Given the description of an element on the screen output the (x, y) to click on. 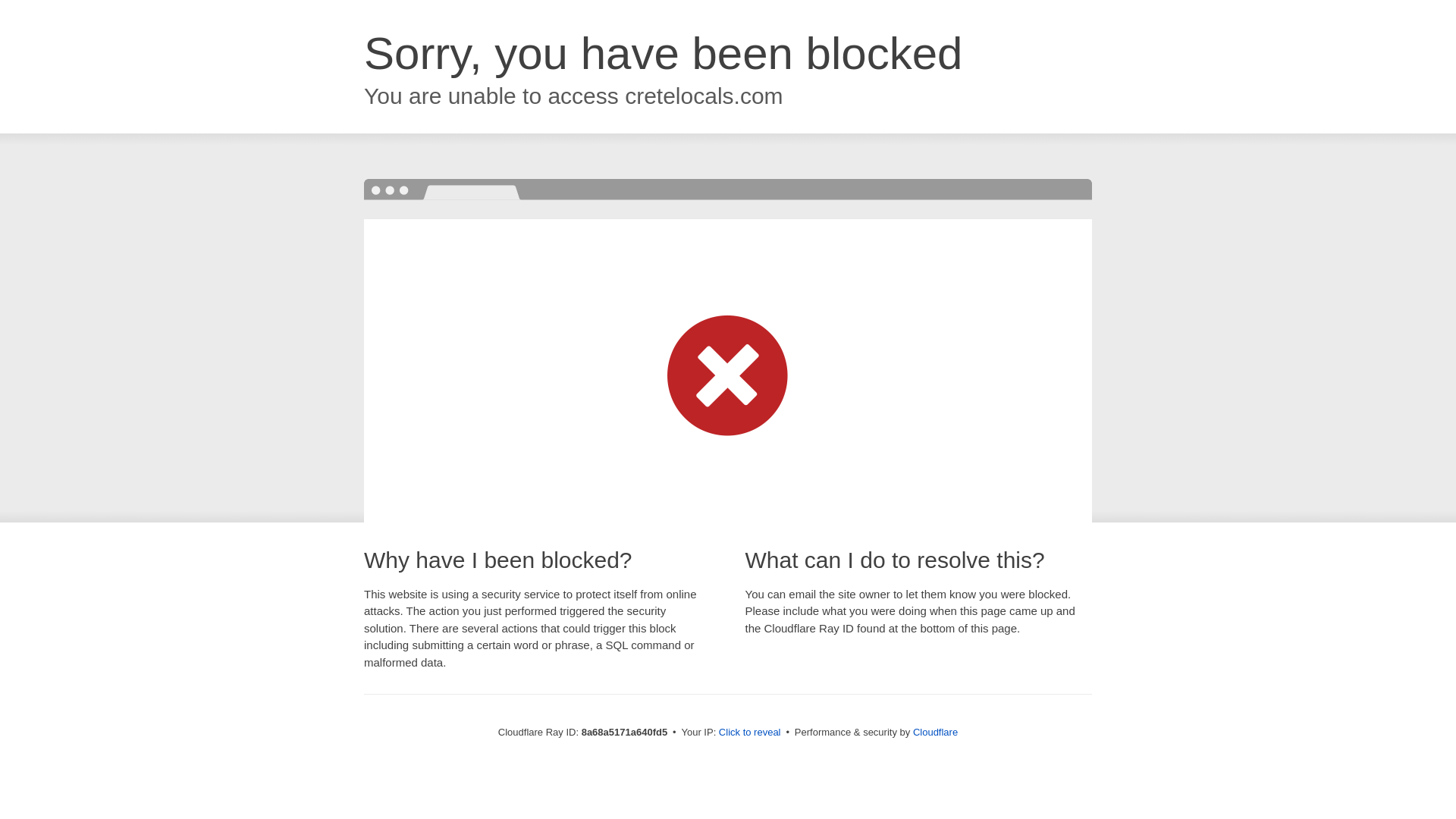
Click to reveal (749, 732)
Cloudflare (935, 731)
